Given the description of an element on the screen output the (x, y) to click on. 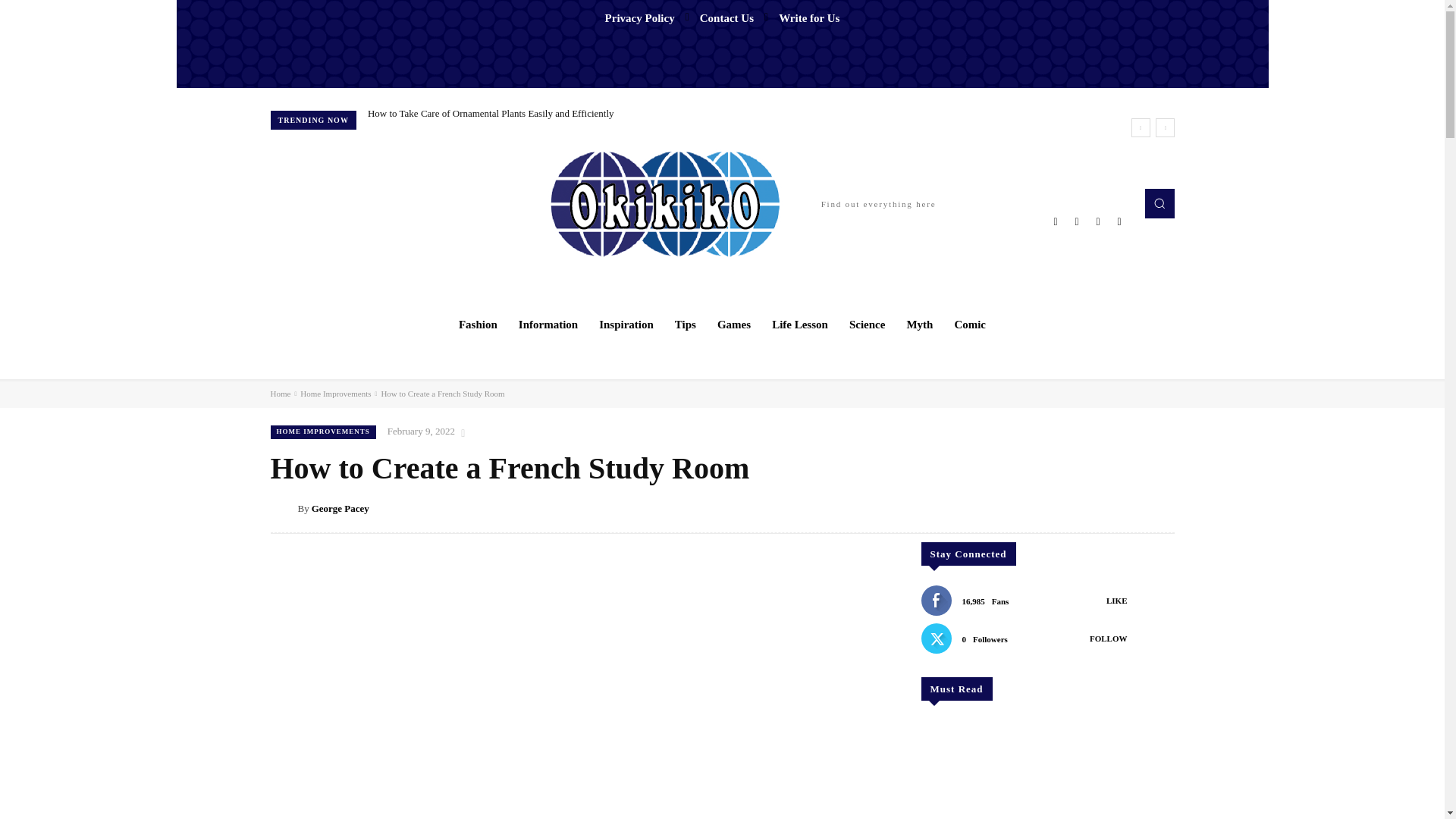
Myth (919, 324)
Fashion (478, 324)
How to Take Care of Ornamental Plants Easily and Efficiently (491, 112)
Write for Us (809, 18)
Youtube (1118, 220)
Facebook (1055, 220)
Inspiration (625, 324)
Games (733, 324)
How to Take Care of Ornamental Plants Easily and Efficiently (491, 112)
Contact Us (726, 18)
